Given the description of an element on the screen output the (x, y) to click on. 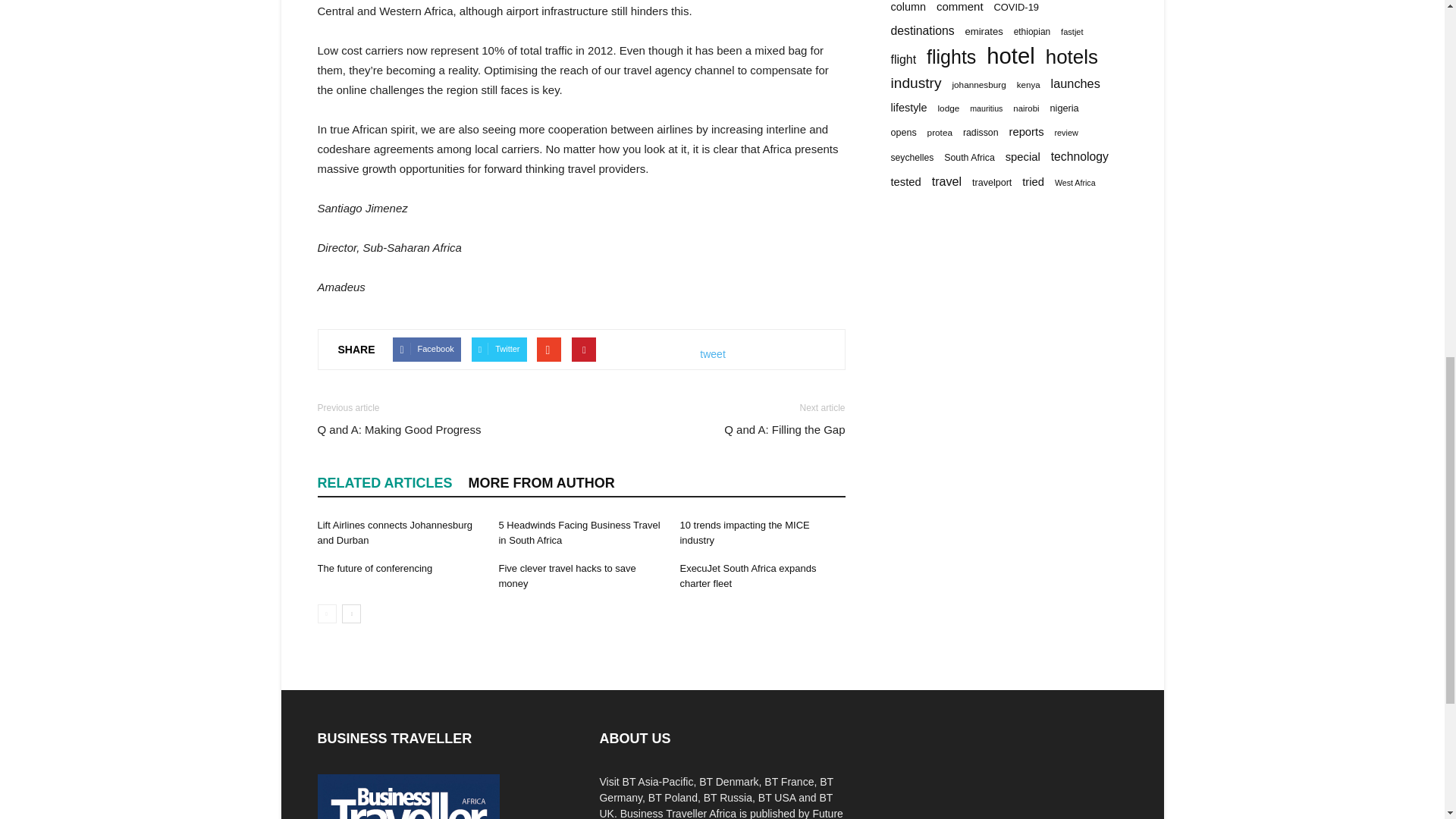
10 trends impacting the MICE industry (744, 532)
ExecuJet South Africa expands charter fleet (747, 575)
Lift Airlines connects Johannesburg and Durban (394, 532)
Five clever travel hacks to save money (565, 575)
5 Headwinds Facing Business Travel in South Africa (578, 532)
The future of conferencing (374, 568)
